Given the description of an element on the screen output the (x, y) to click on. 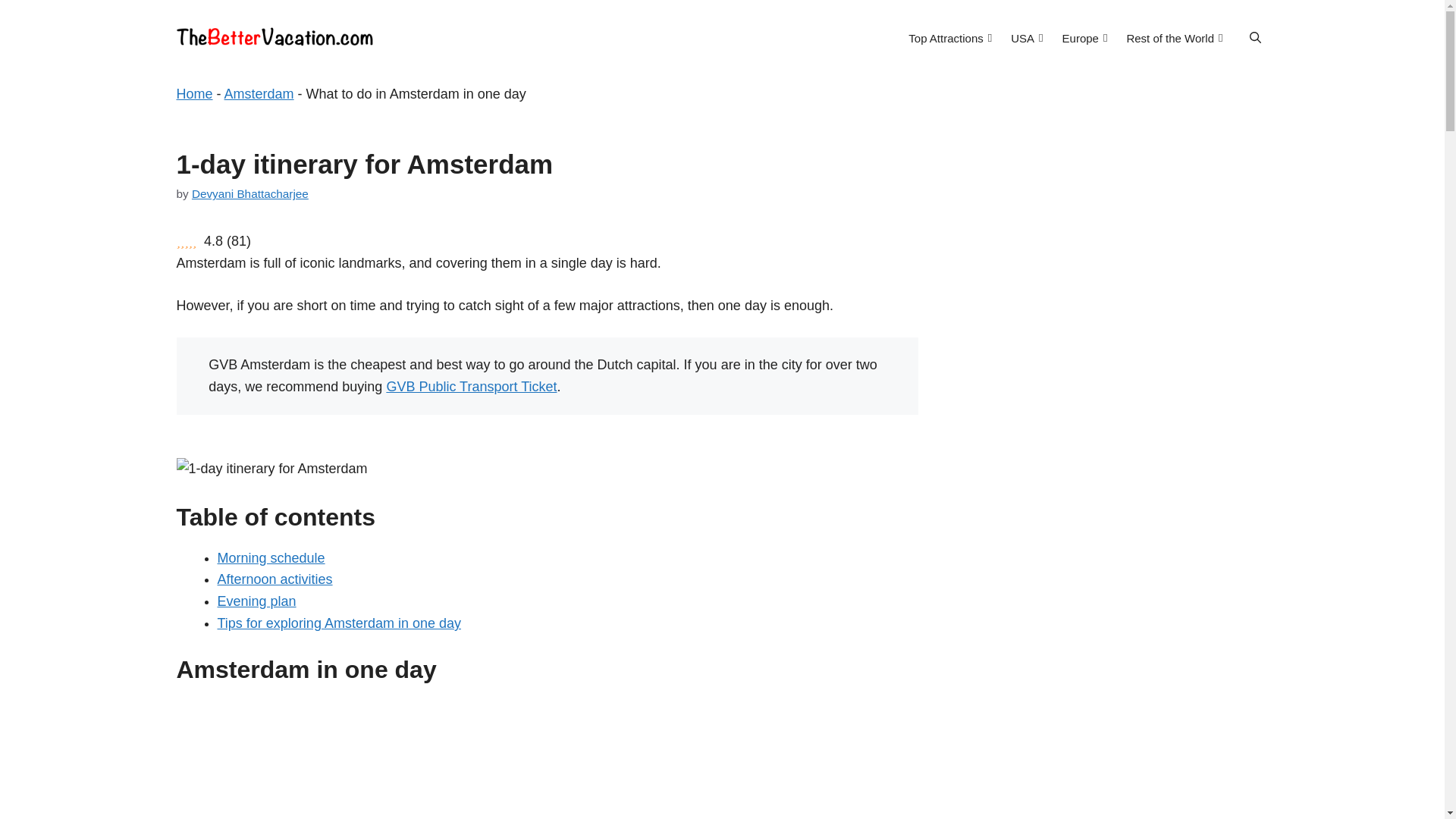
USA (1026, 37)
Europe (1084, 37)
Top Attractions (949, 37)
